Given the description of an element on the screen output the (x, y) to click on. 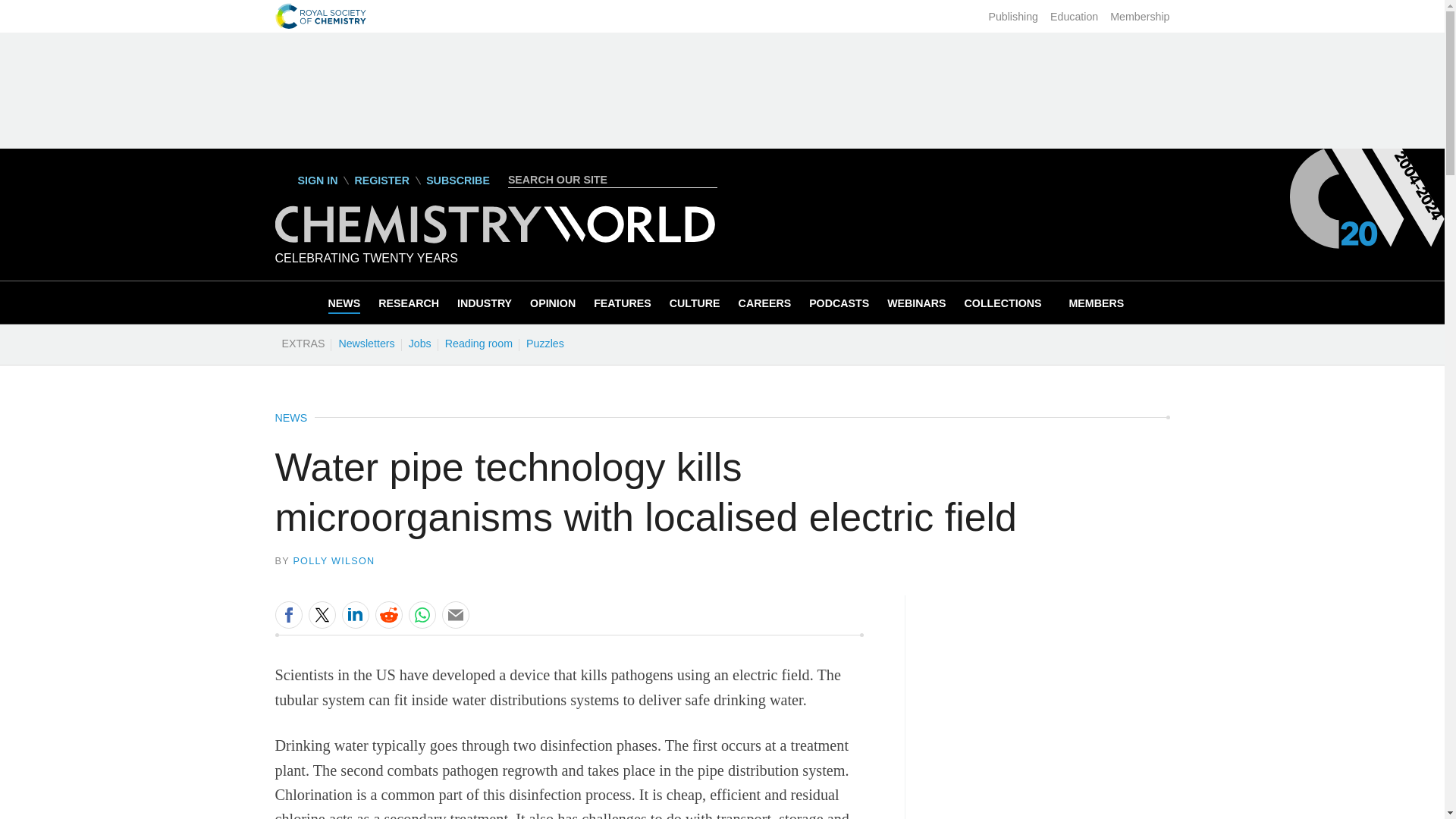
Puzzles (544, 343)
Jobs (419, 343)
Chemistry World (494, 224)
Newsletters (366, 343)
SIGN IN (306, 180)
Share this on Reddit (387, 614)
Publishing (1013, 16)
REGISTER (381, 180)
Share this on Facebook (288, 614)
Chemistry World (494, 238)
